Given the description of an element on the screen output the (x, y) to click on. 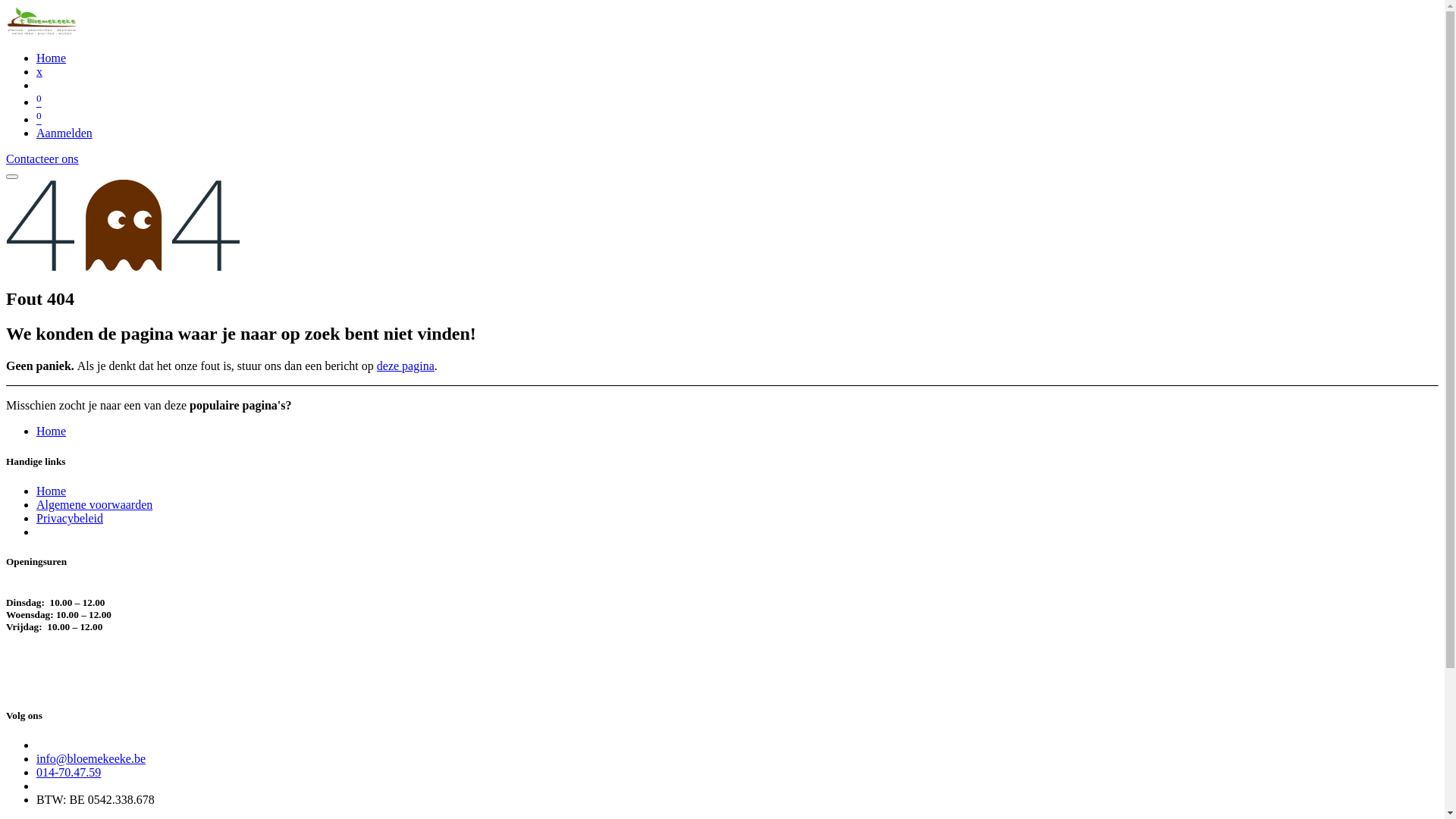
deze pagina Element type: text (405, 365)
Aanmelden Element type: text (64, 132)
Algemene voorwaarden Element type: text (94, 504)
Home Element type: text (50, 490)
0 Element type: text (38, 118)
info@bloemekeeke.be Element type: text (90, 758)
0 Element type: text (38, 101)
Contacteer ons Element type: text (42, 158)
x Element type: text (39, 71)
Privacybeleid Element type: text (69, 517)
't Bloemekeeke Element type: hover (42, 31)
Home Element type: text (50, 57)
Home Element type: text (50, 430)
014-70.47.59 Element type: text (68, 771)
